Given the description of an element on the screen output the (x, y) to click on. 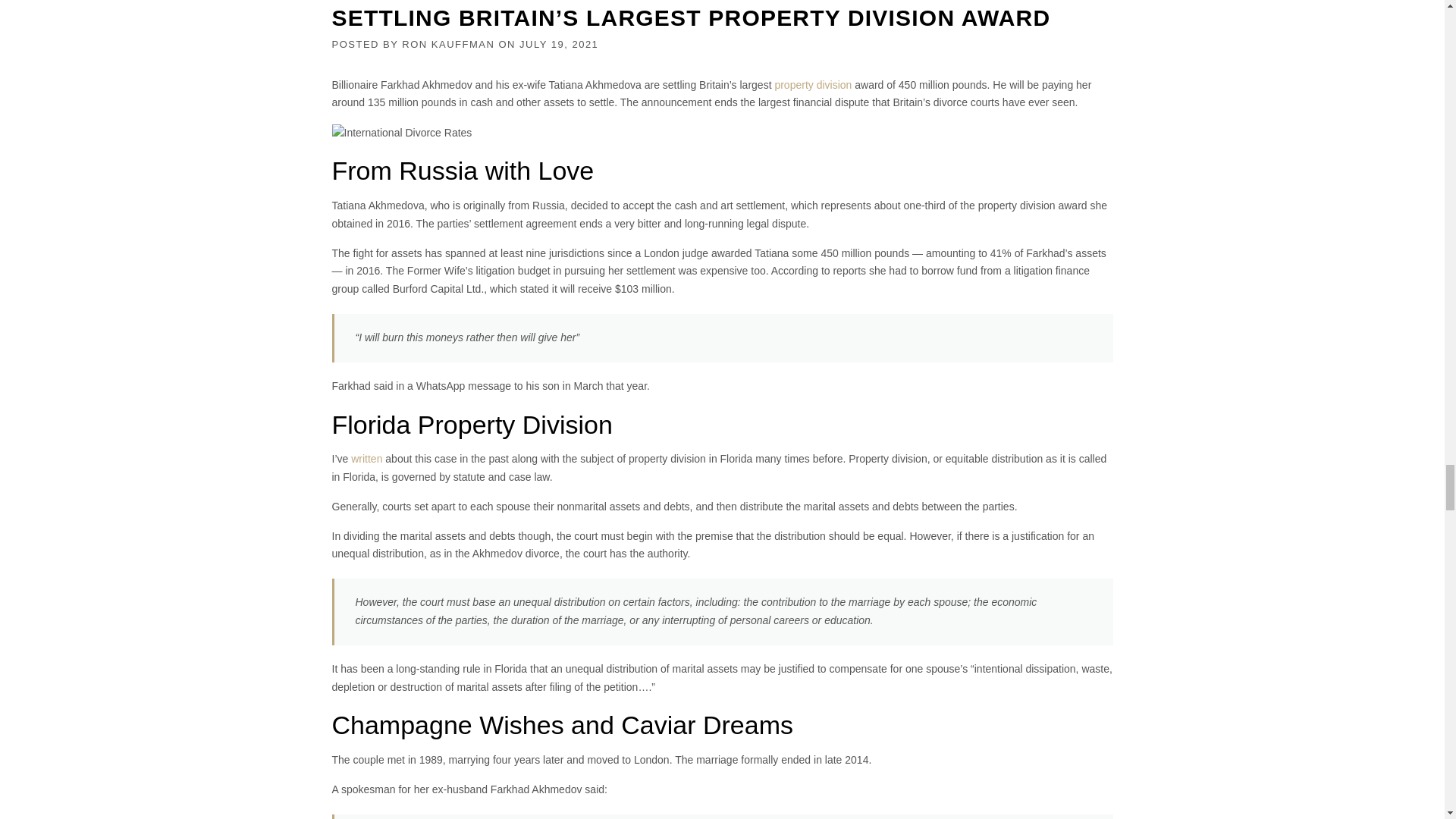
International Divorce Rates (401, 133)
